Given the description of an element on the screen output the (x, y) to click on. 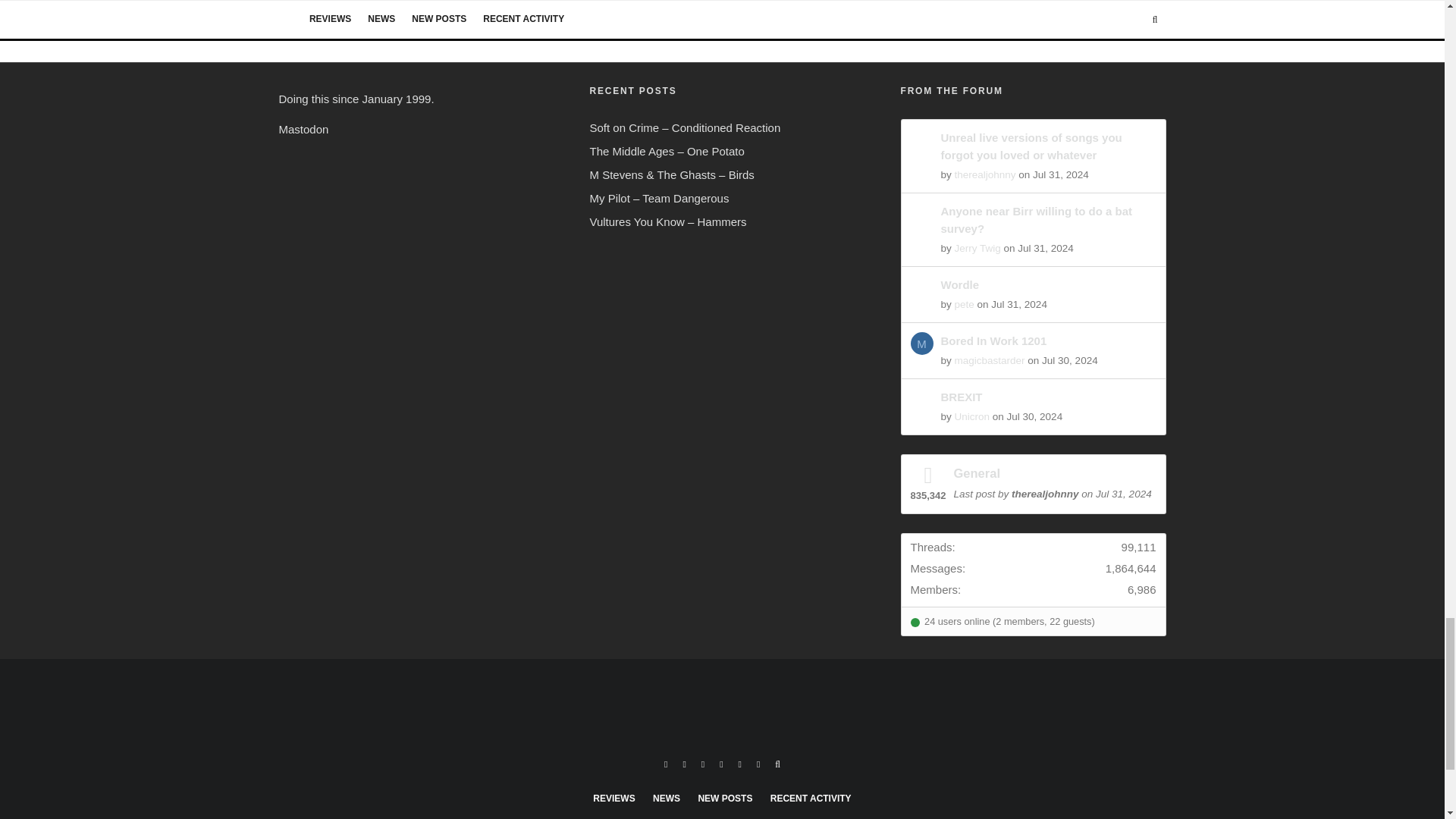
Submit (511, 4)
